Given the description of an element on the screen output the (x, y) to click on. 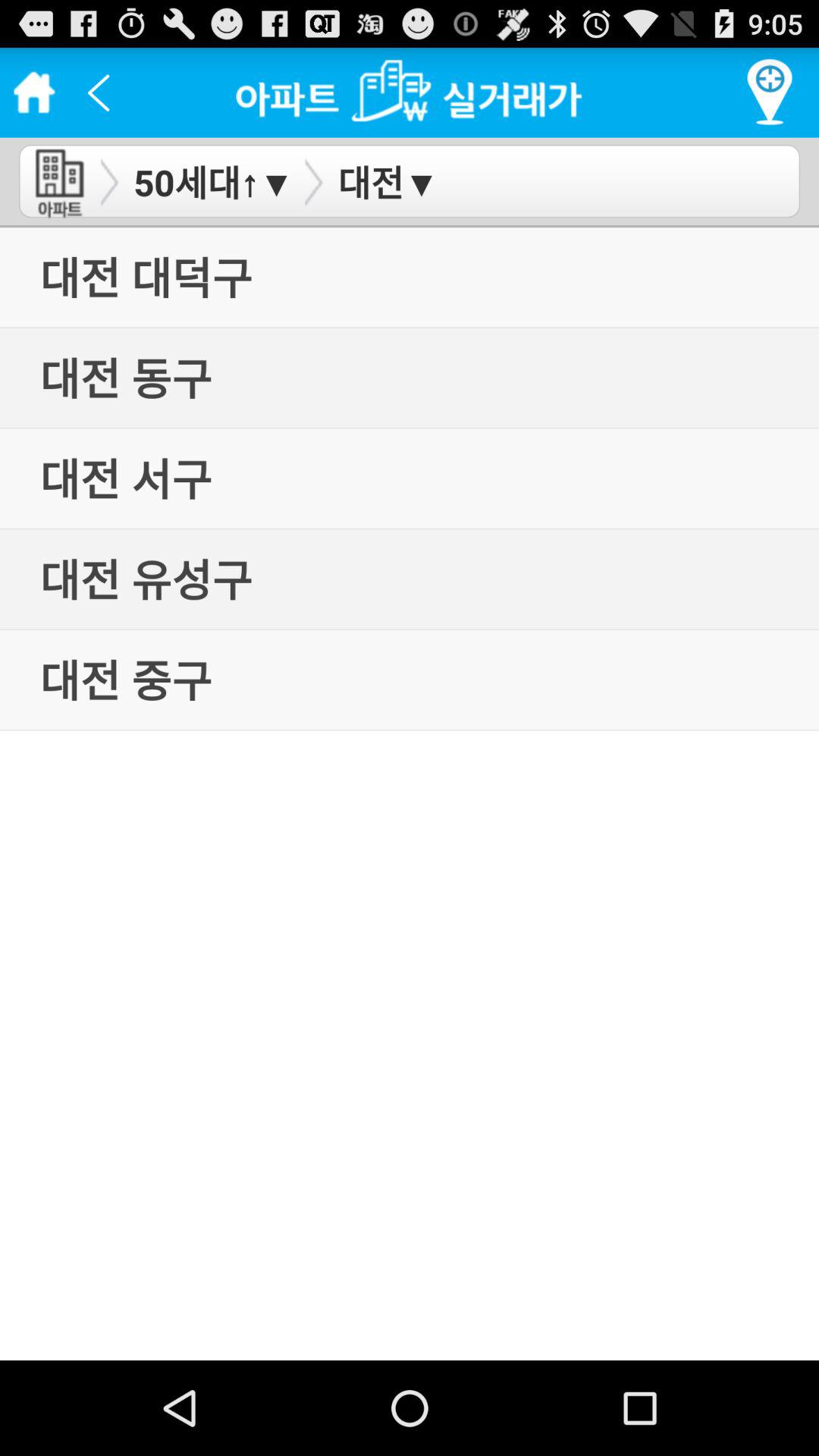
click on top right corner icon of the page (769, 92)
click on arrow button beside 50 (109, 182)
